Given the description of an element on the screen output the (x, y) to click on. 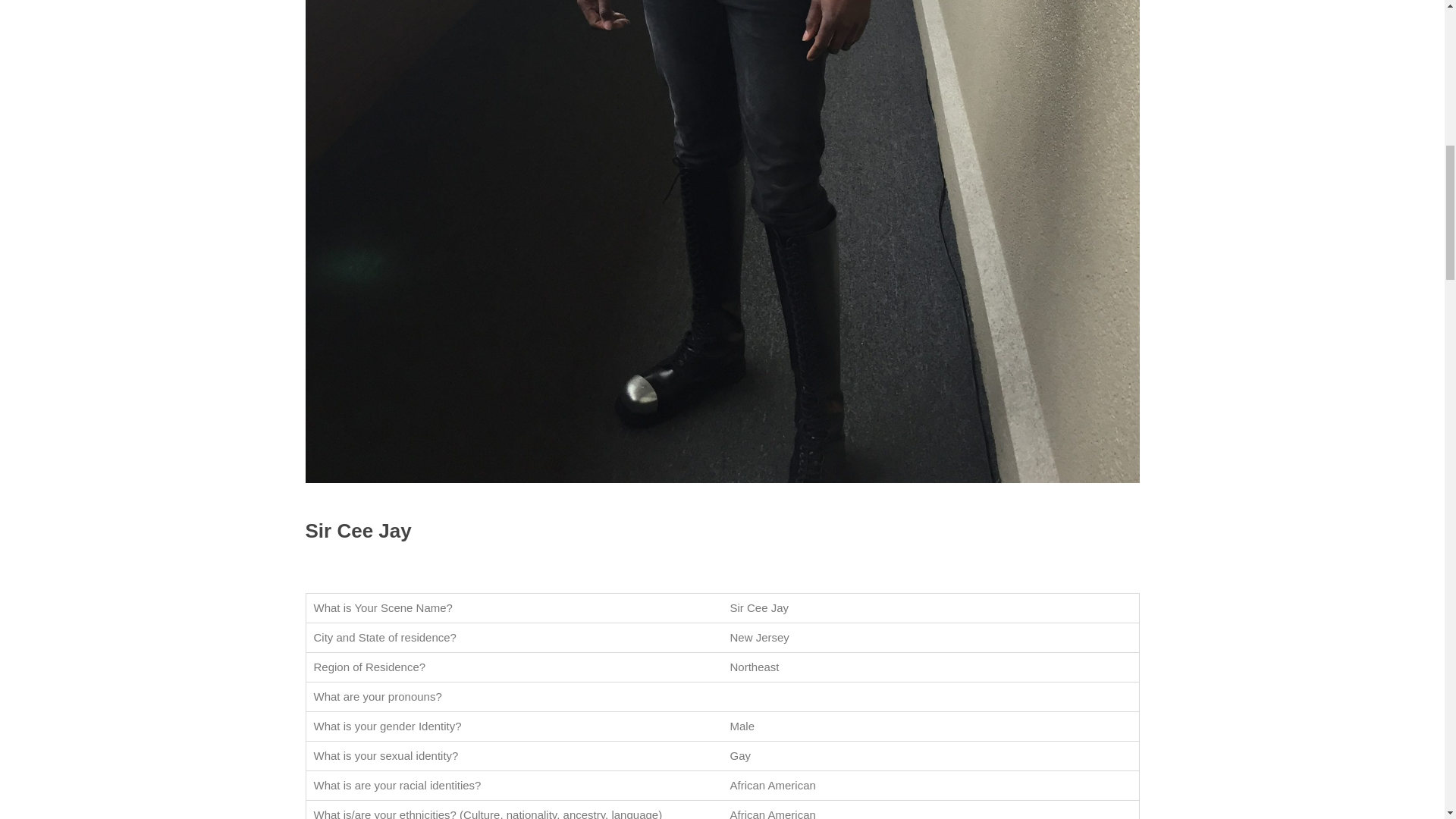
Sir Cee Jay (357, 530)
Sir Cee Jay (357, 530)
